Given the description of an element on the screen output the (x, y) to click on. 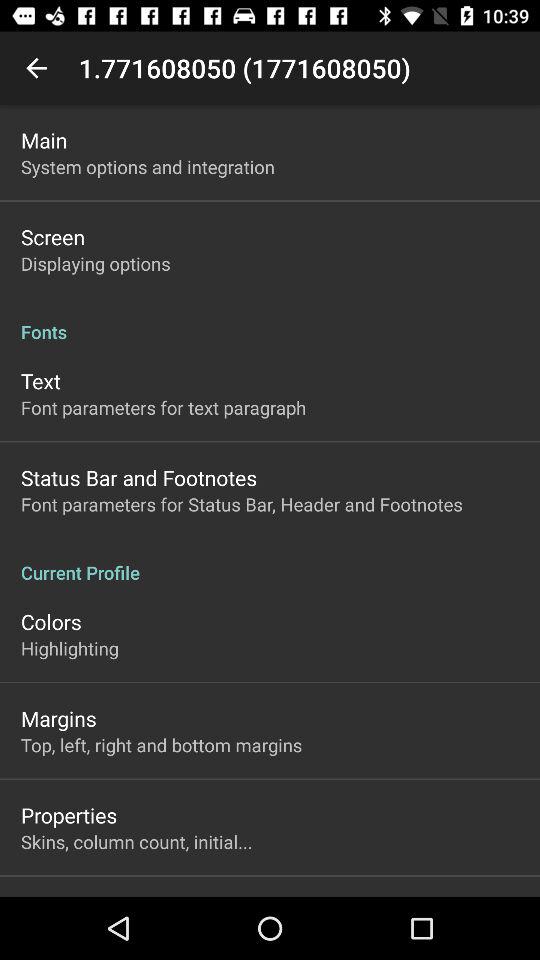
open screen app (53, 236)
